Given the description of an element on the screen output the (x, y) to click on. 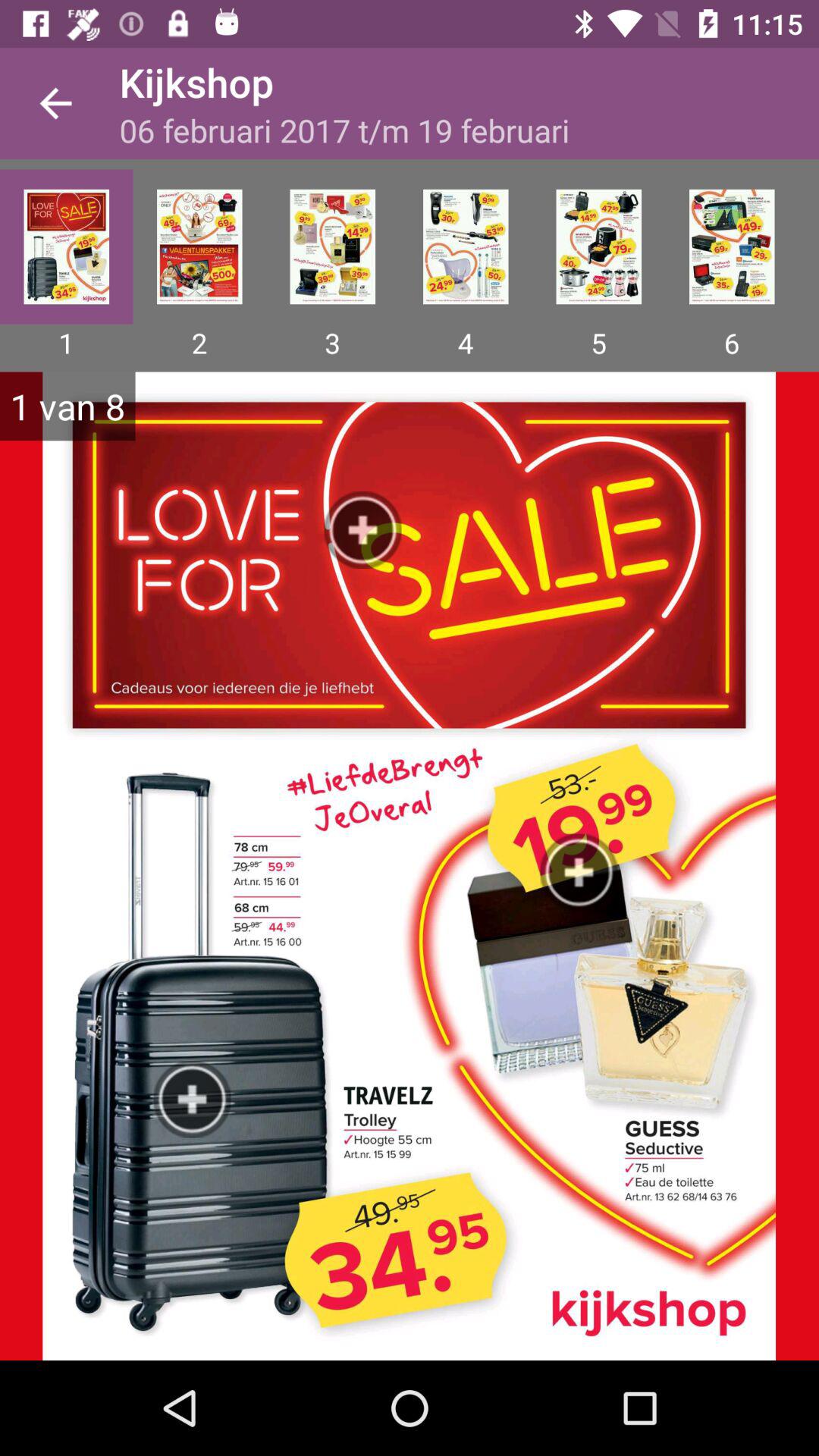
switch to image (332, 246)
